Given the description of an element on the screen output the (x, y) to click on. 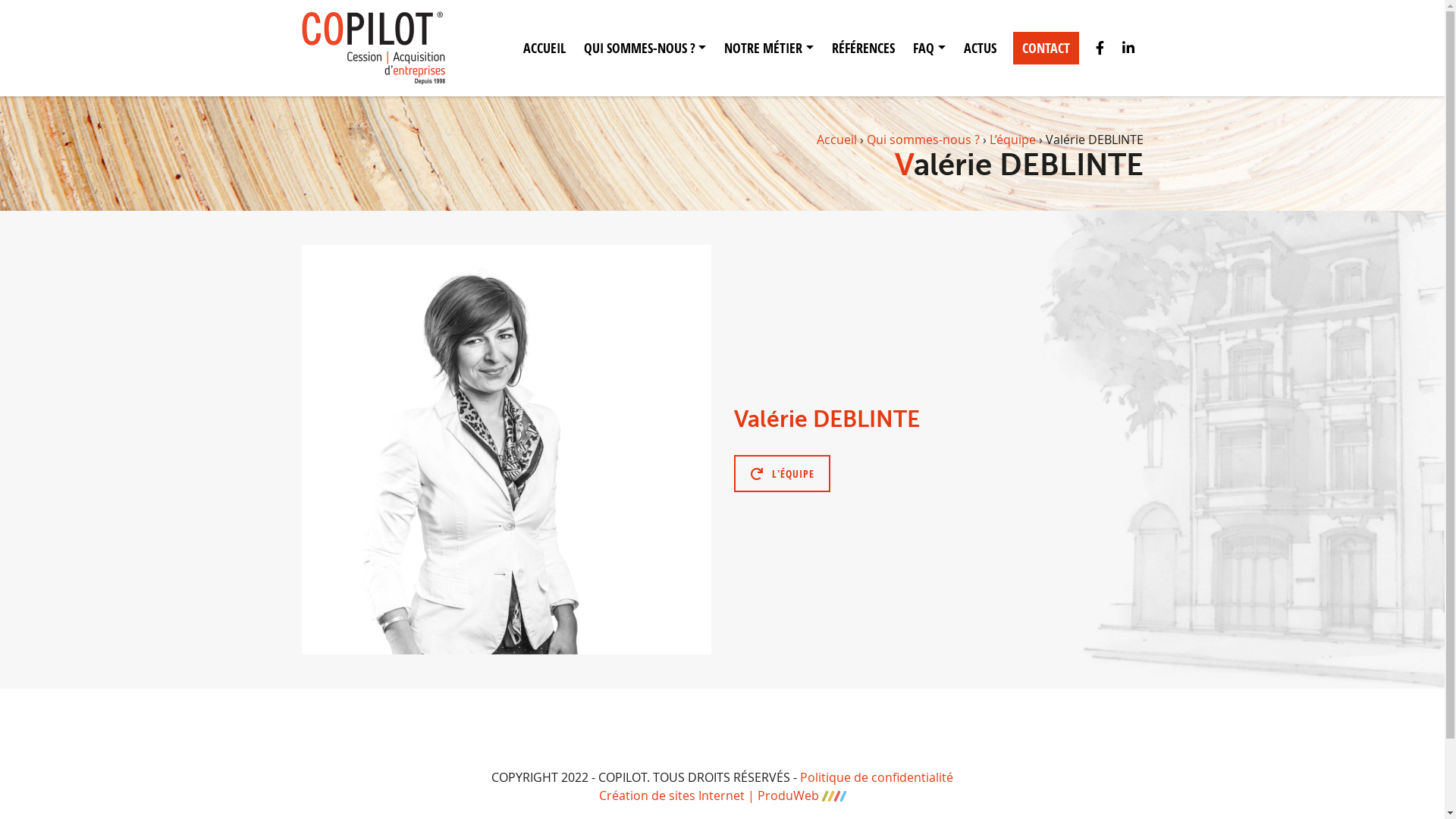
ACTUS Element type: text (978, 47)
Qui sommes-nous ? Element type: text (922, 139)
FAQ Element type: text (928, 47)
CONTACT Element type: text (1046, 47)
valerie-1 Element type: hover (506, 448)
ACCUEIL Element type: text (544, 47)
Accueil Element type: text (835, 139)
QUI SOMMES-NOUS ? Element type: text (644, 47)
